Given the description of an element on the screen output the (x, y) to click on. 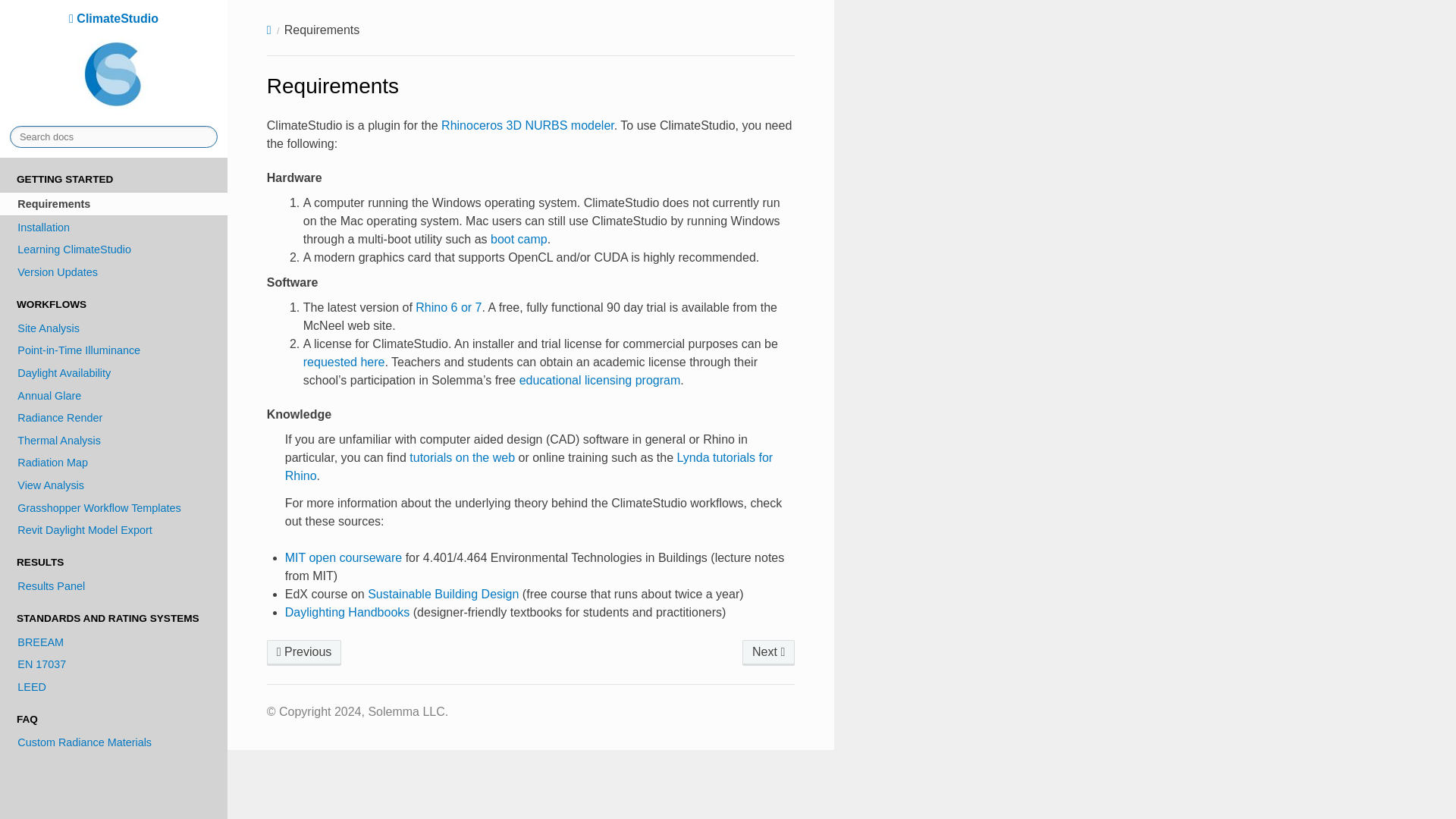
ClimateStudio (113, 63)
Requirements (113, 203)
Previous (304, 652)
boot camp (518, 238)
Thermal Analysis (113, 440)
Grasshopper Workflow Templates (113, 507)
Rhinoceros 3D NURBS modeler (527, 124)
BREEAM (113, 641)
Daylighting Handbooks (347, 612)
Radiance Render (113, 417)
